Given the description of an element on the screen output the (x, y) to click on. 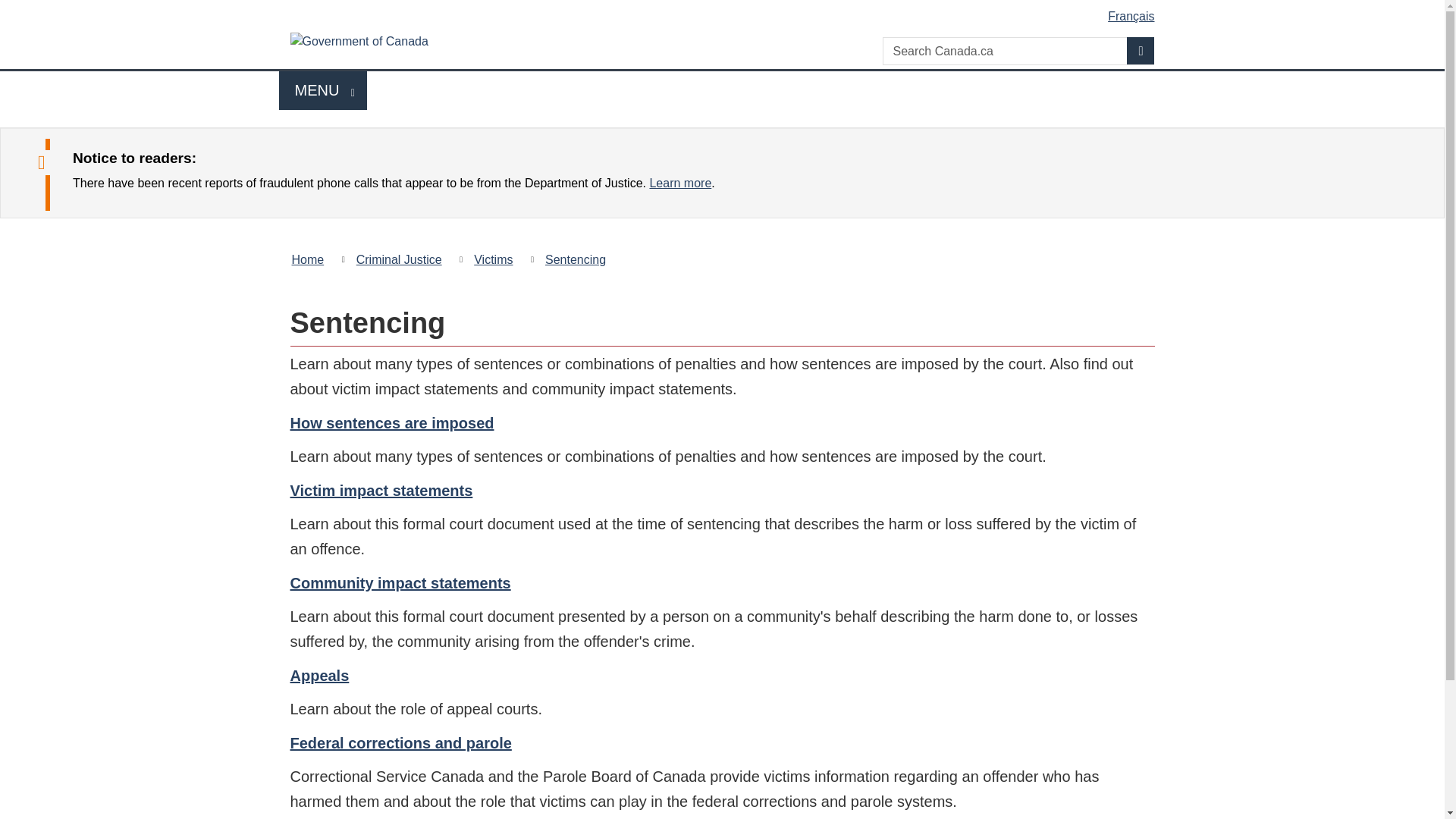
Sentencing (574, 259)
Appeals (319, 675)
Search (1140, 50)
Federal corrections and parole (400, 742)
How sentences are imposed (391, 422)
Skip to main content (725, 11)
Community impact statements (400, 582)
Victim impact statements (380, 490)
Victims (322, 90)
